Given the description of an element on the screen output the (x, y) to click on. 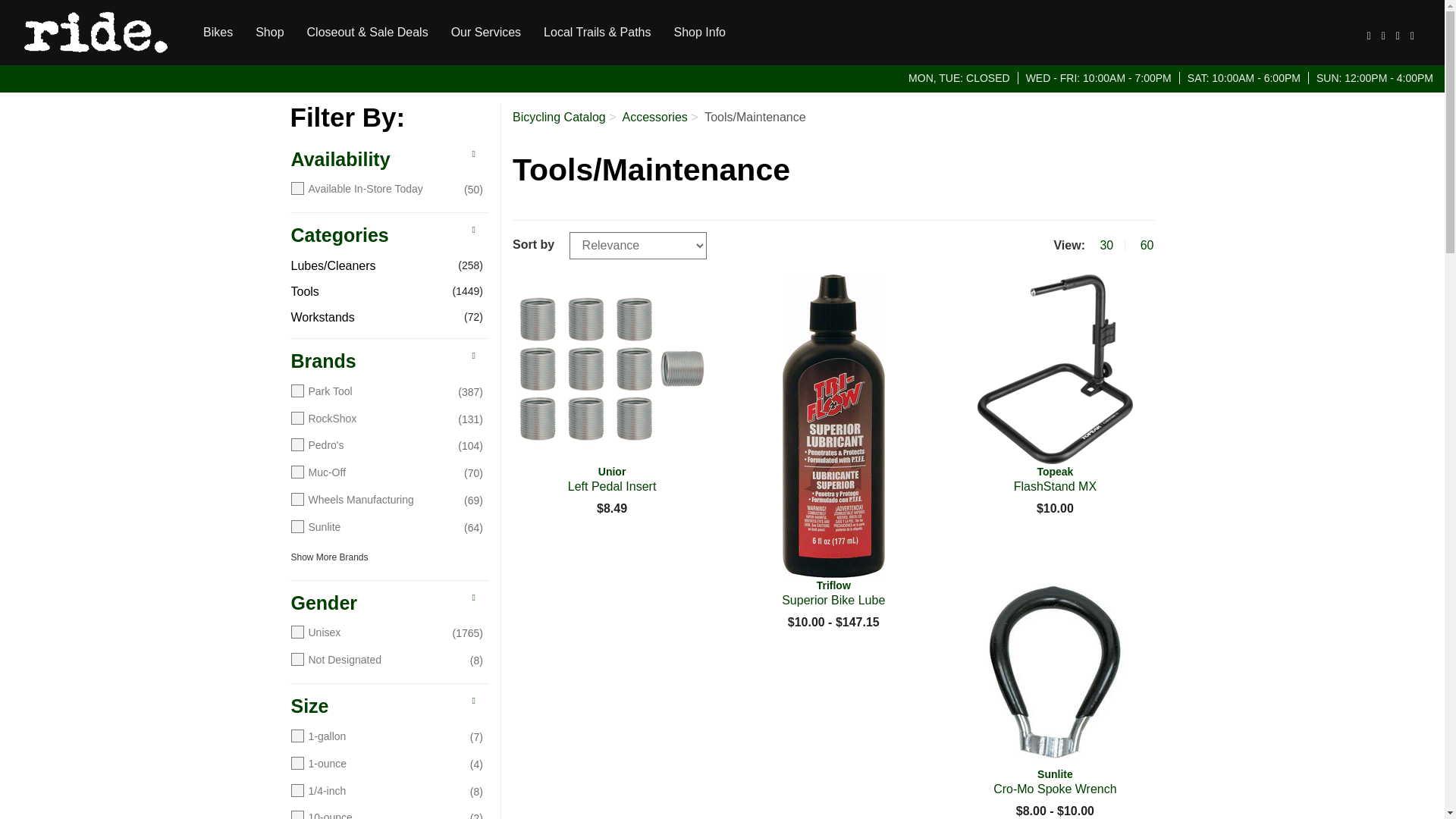
Ride of Pleasantville Home Page (95, 32)
Bikes (218, 32)
Workstands (374, 317)
Shop (269, 32)
Tools (374, 292)
